Given the description of an element on the screen output the (x, y) to click on. 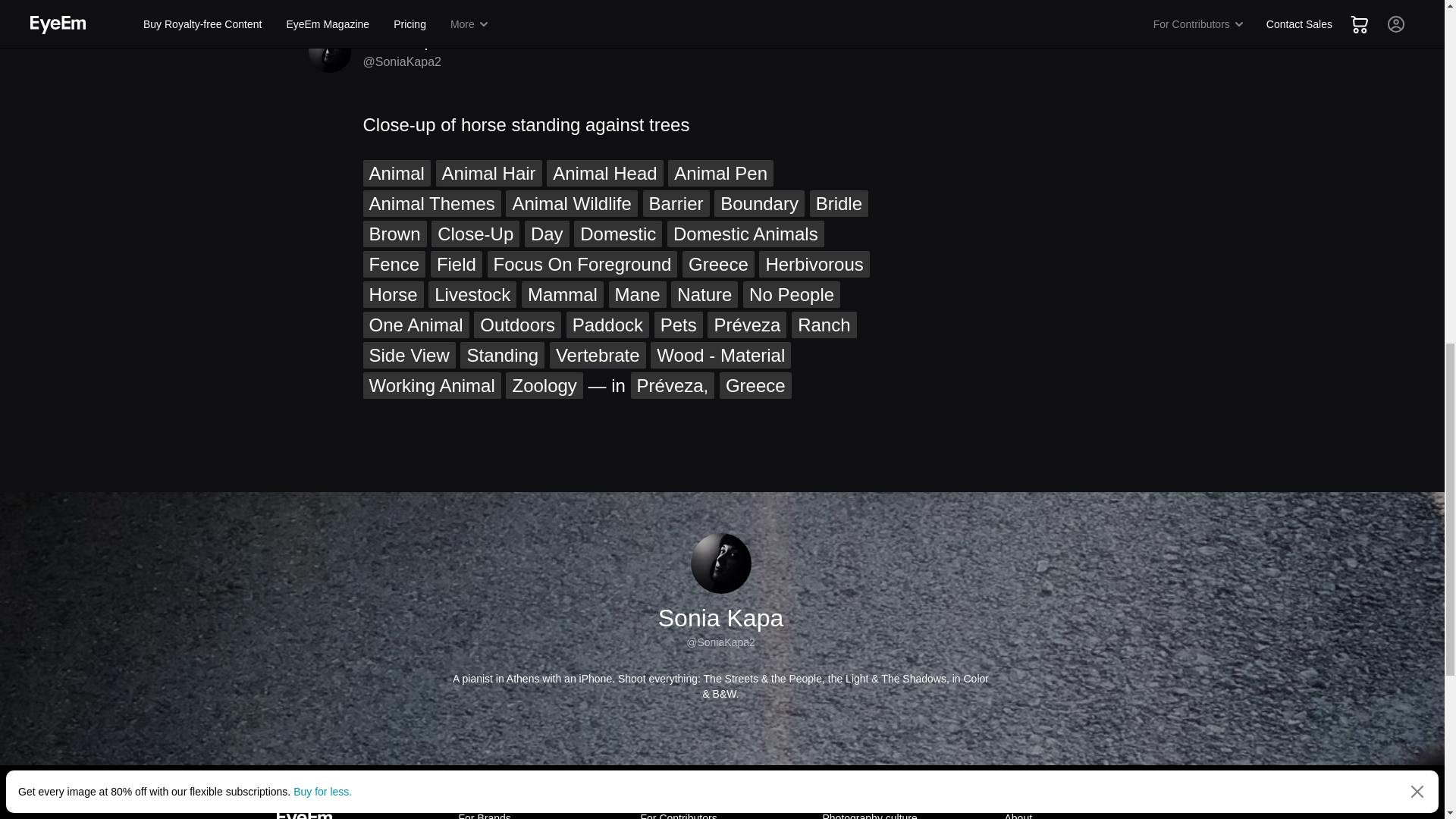
Animal (395, 172)
Boundary (759, 203)
Barrier (676, 203)
Domestic Animals (745, 233)
Animal Themes (431, 203)
Close-Up (474, 233)
Animal Pen (720, 172)
Domestic (617, 233)
Herbivorous (813, 263)
Animal Wildlife (571, 203)
